Given the description of an element on the screen output the (x, y) to click on. 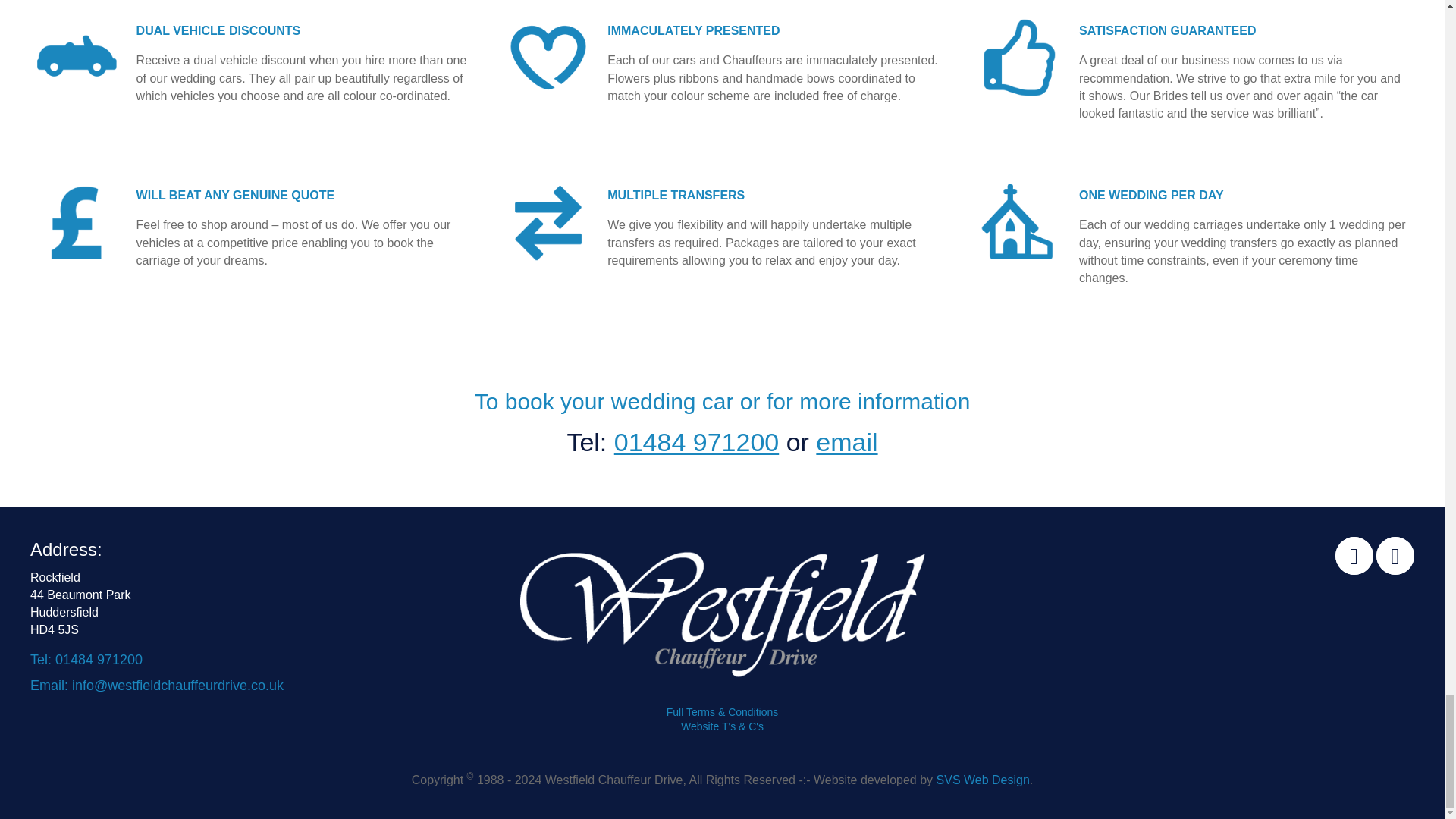
email (846, 441)
01484 971200 (696, 441)
SVS Web Design (982, 779)
Tel: 01484 971200 (86, 659)
